Given the description of an element on the screen output the (x, y) to click on. 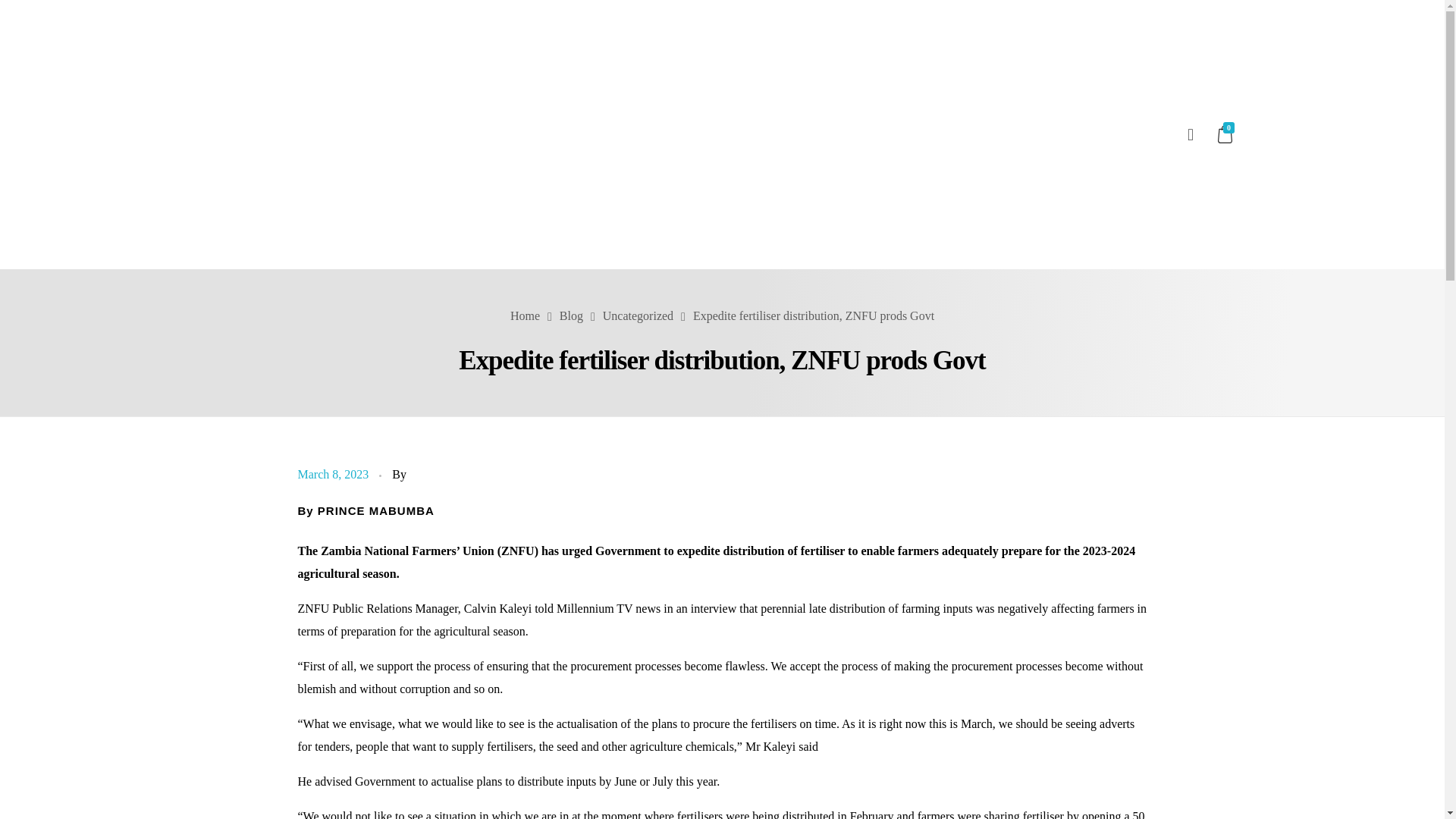
Home (525, 315)
Blog (571, 315)
Home (525, 315)
Uncategorized (637, 315)
Blog (571, 315)
0 (1226, 134)
Uncategorized (637, 315)
View your shopping cart (1226, 134)
